Given the description of an element on the screen output the (x, y) to click on. 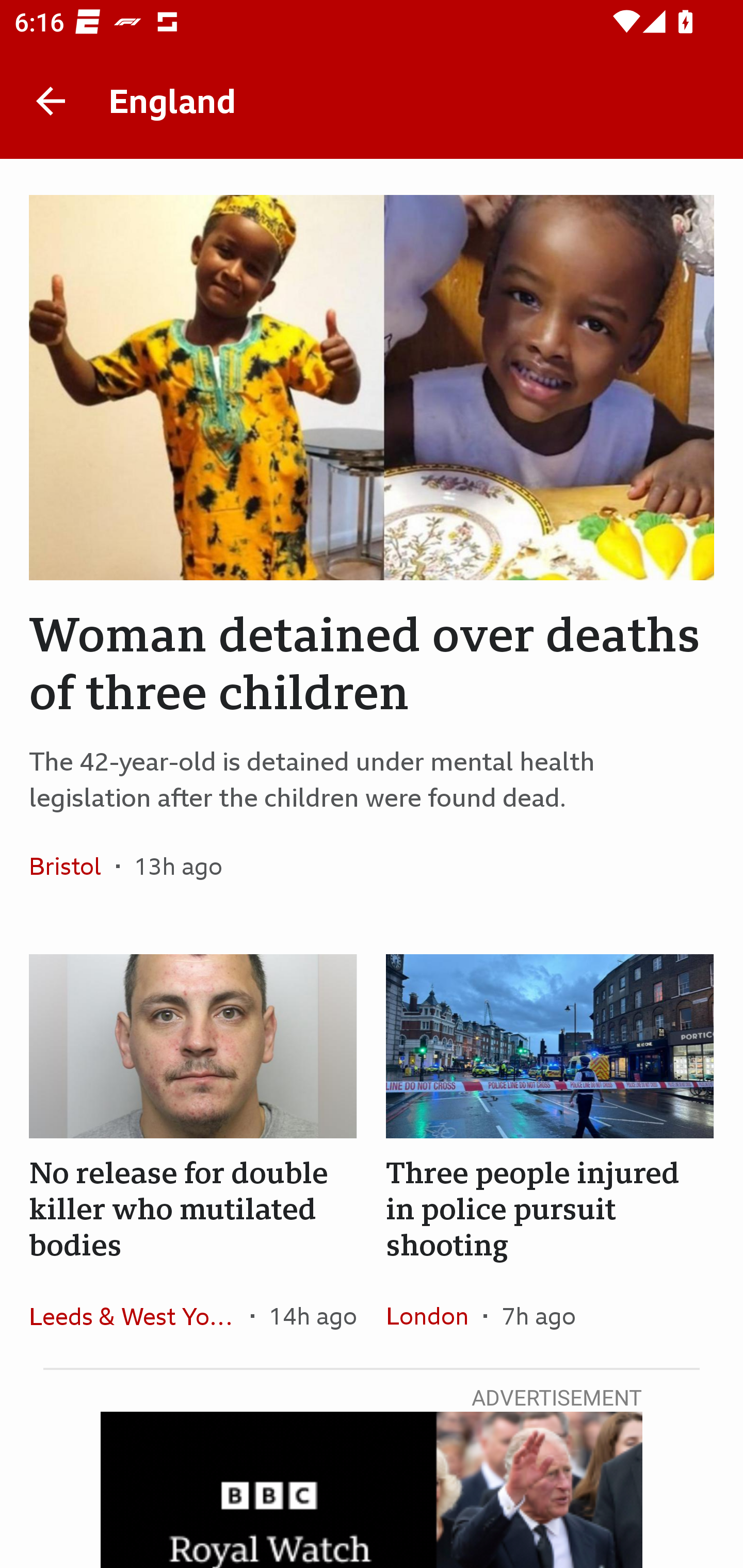
Back (50, 101)
Bristol In the section Bristol (71, 865)
London In the section London (434, 1315)
